Given the description of an element on the screen output the (x, y) to click on. 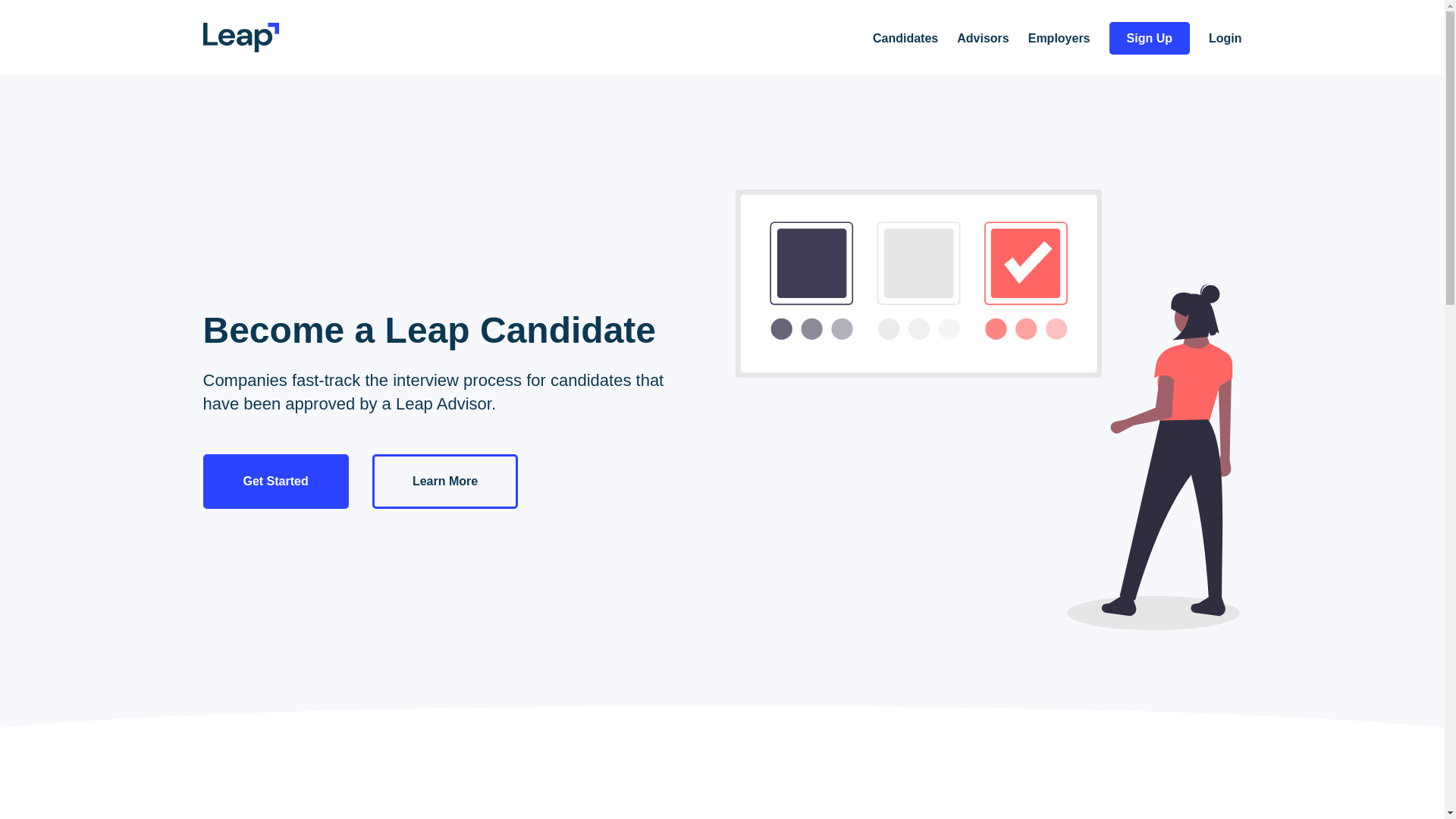
Advisors (982, 38)
Learn More (445, 481)
Get Started (276, 481)
Login (1224, 38)
Candidates (904, 38)
Sign Up (1149, 38)
Employers (1058, 38)
